Given the description of an element on the screen output the (x, y) to click on. 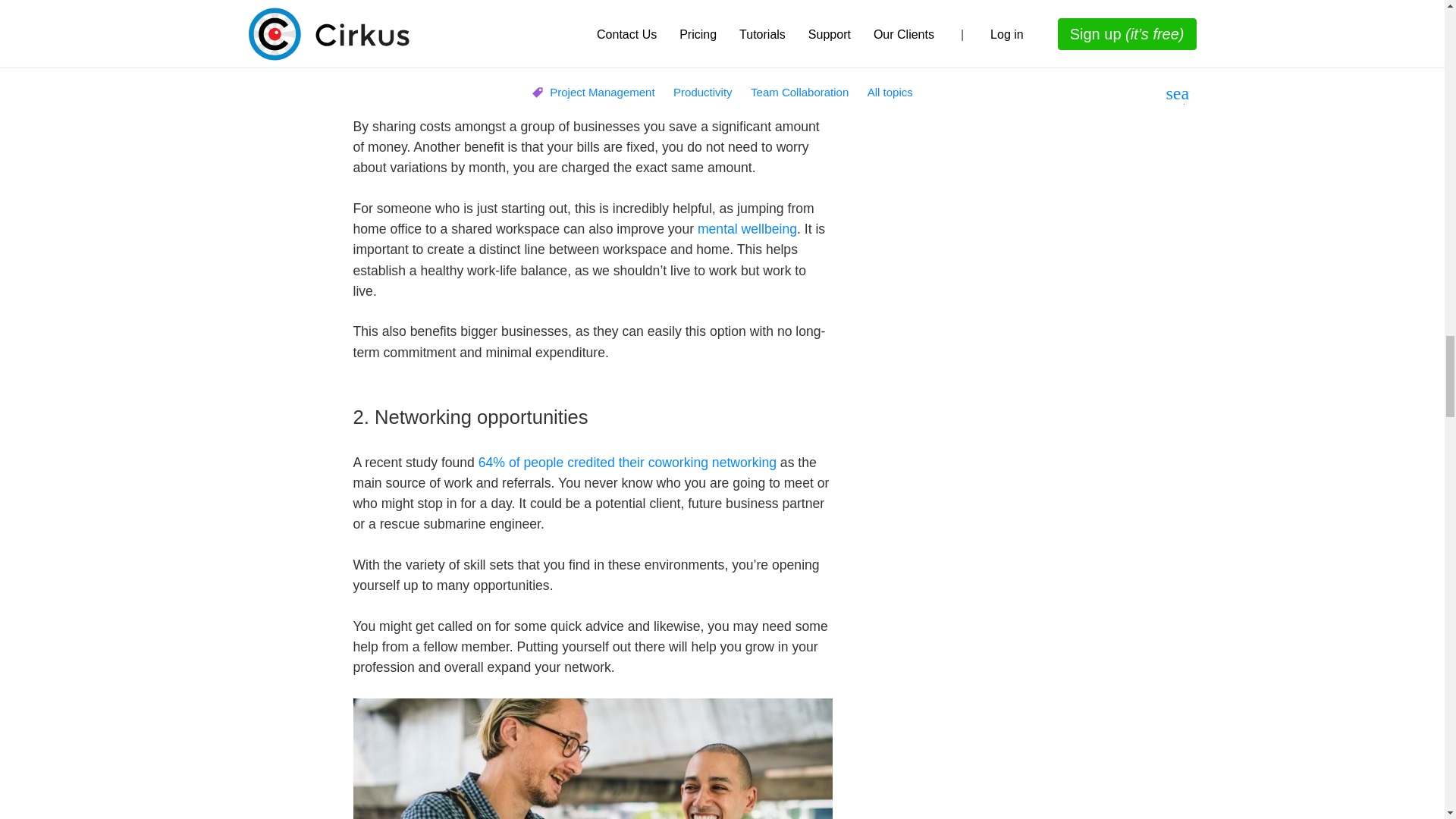
mental wellbeing (746, 228)
